Given the description of an element on the screen output the (x, y) to click on. 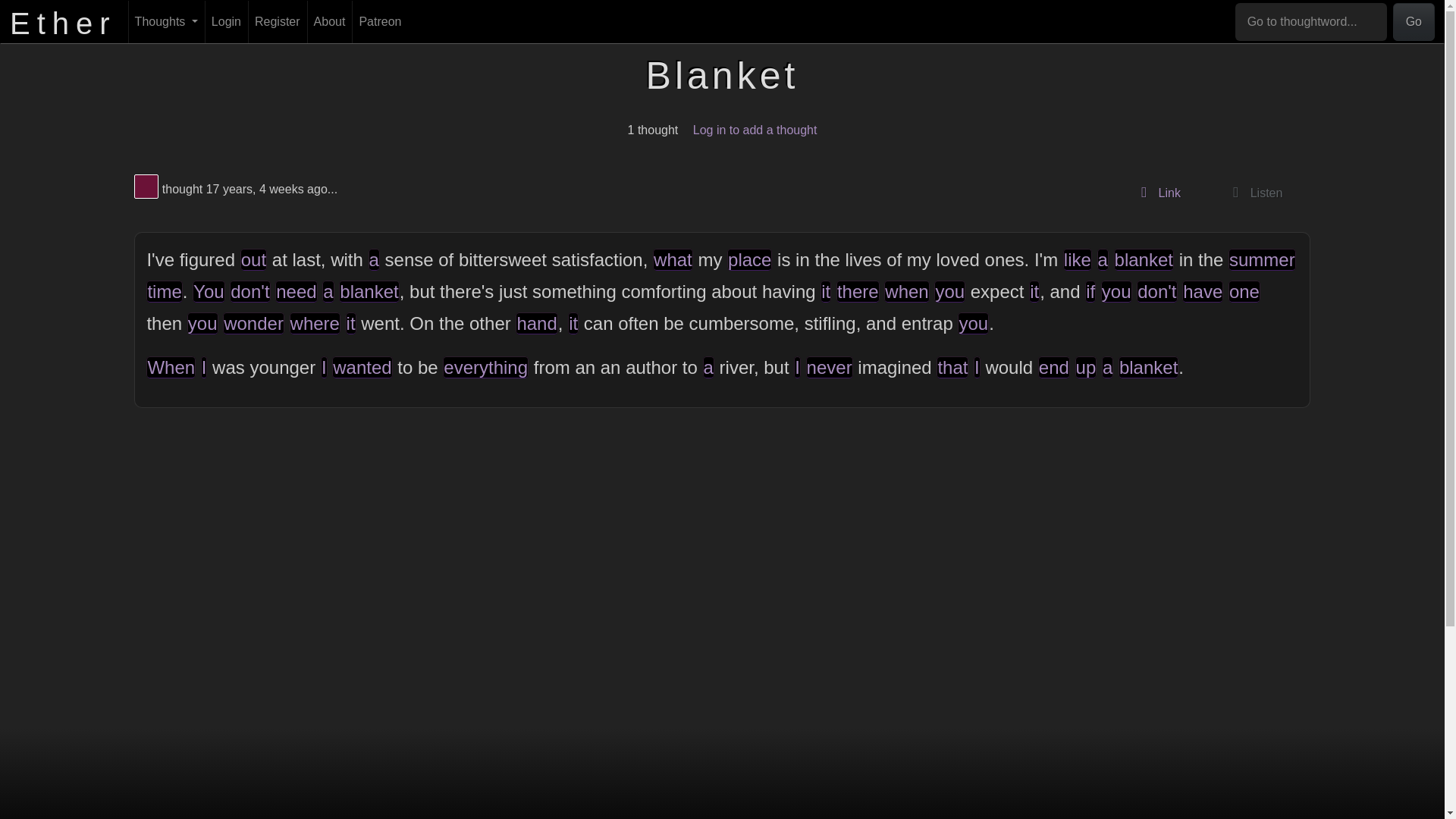
don't (249, 291)
Register (277, 21)
summer (1261, 259)
you (949, 291)
place (748, 259)
when (905, 291)
Listen (1253, 193)
Thoughts (166, 21)
don't (1156, 291)
you (1116, 291)
like (1077, 259)
About (329, 21)
blanket (1143, 259)
Patreon (1156, 193)
